Given the description of an element on the screen output the (x, y) to click on. 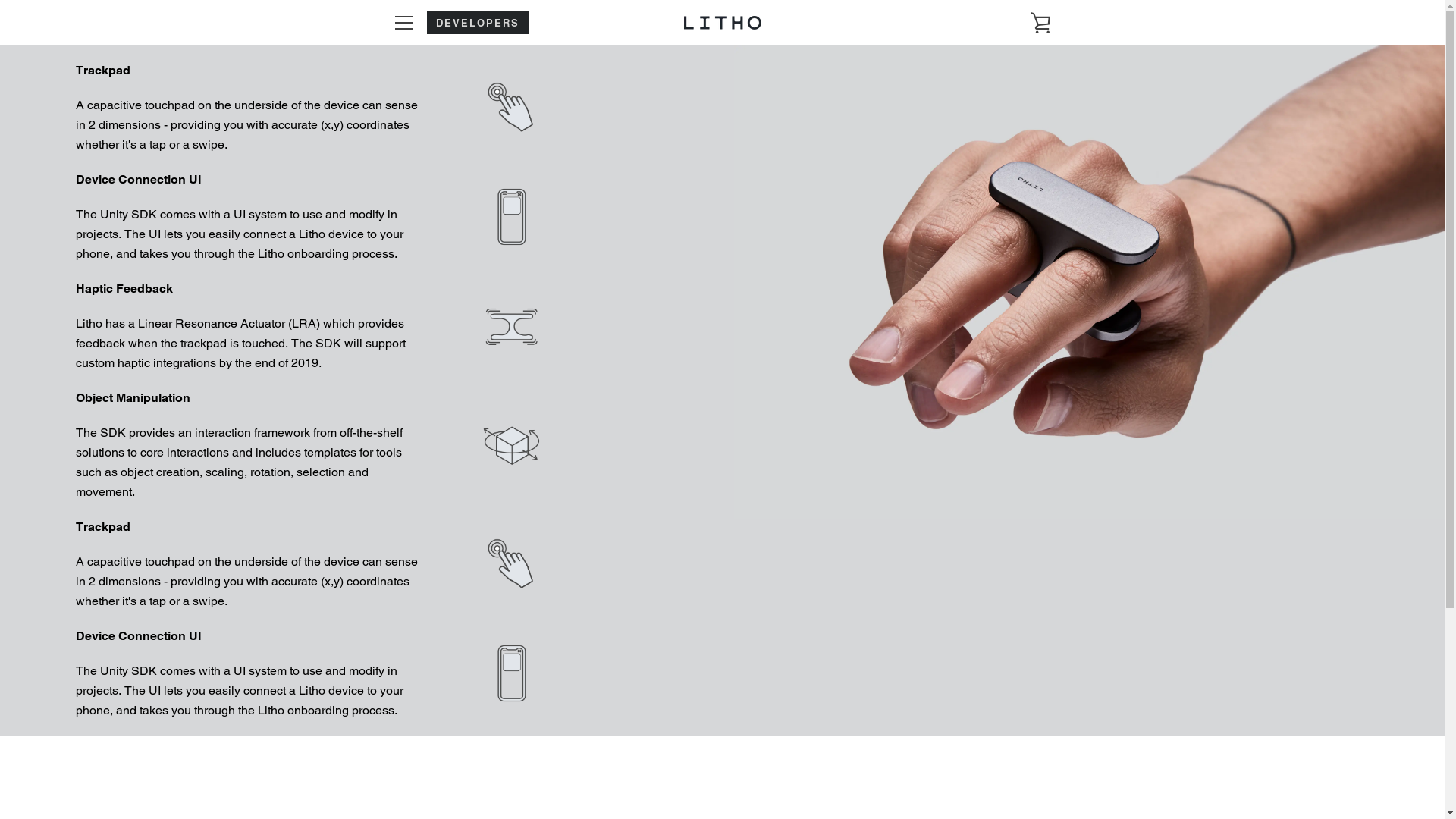
DEVELOPERS Element type: text (477, 22)
MENU Element type: text (403, 22)
Skip to content Element type: text (0, 0)
VIEW CART Element type: text (1040, 22)
